Given the description of an element on the screen output the (x, y) to click on. 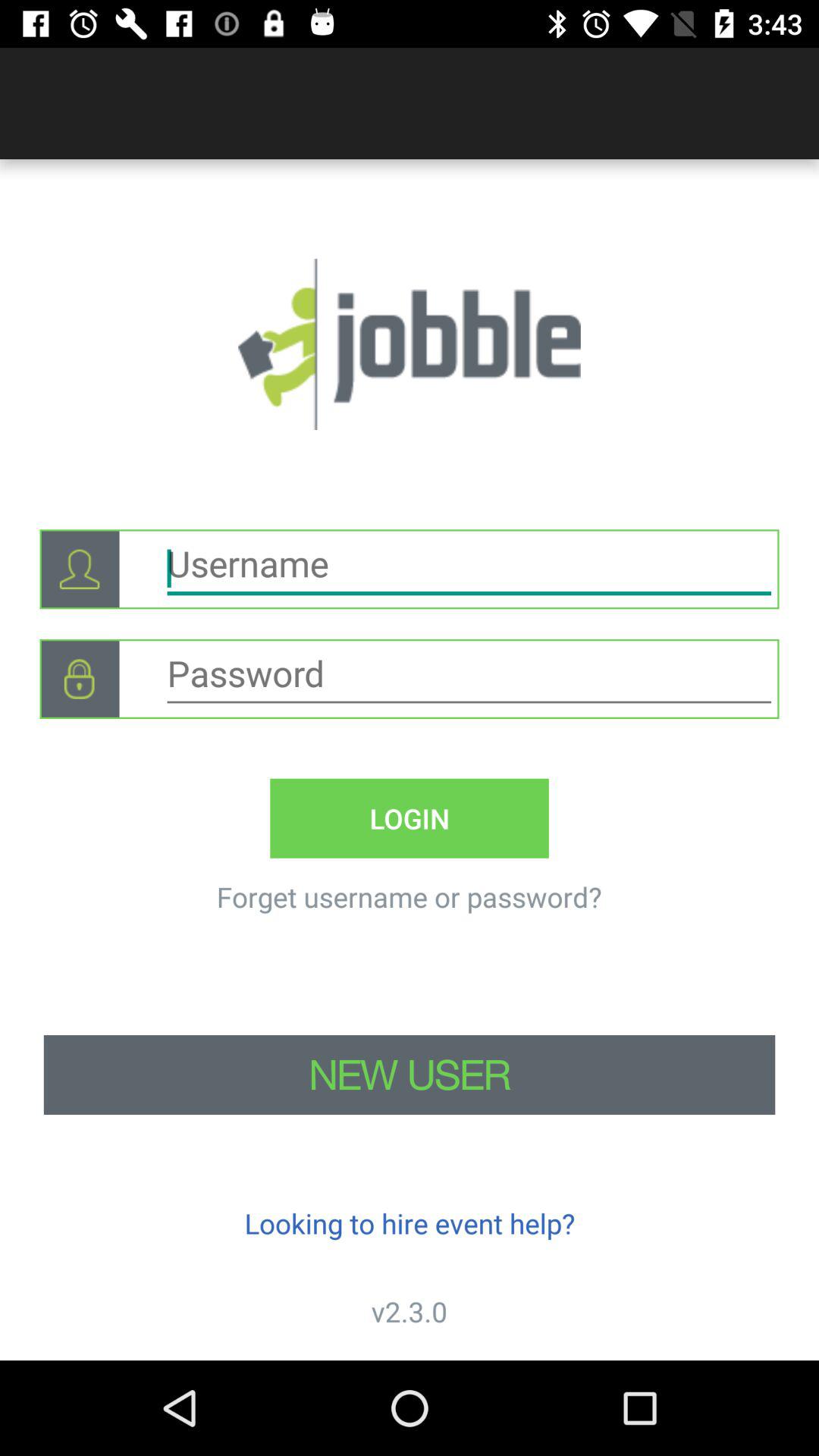
flip to the looking to hire icon (409, 1223)
